Given the description of an element on the screen output the (x, y) to click on. 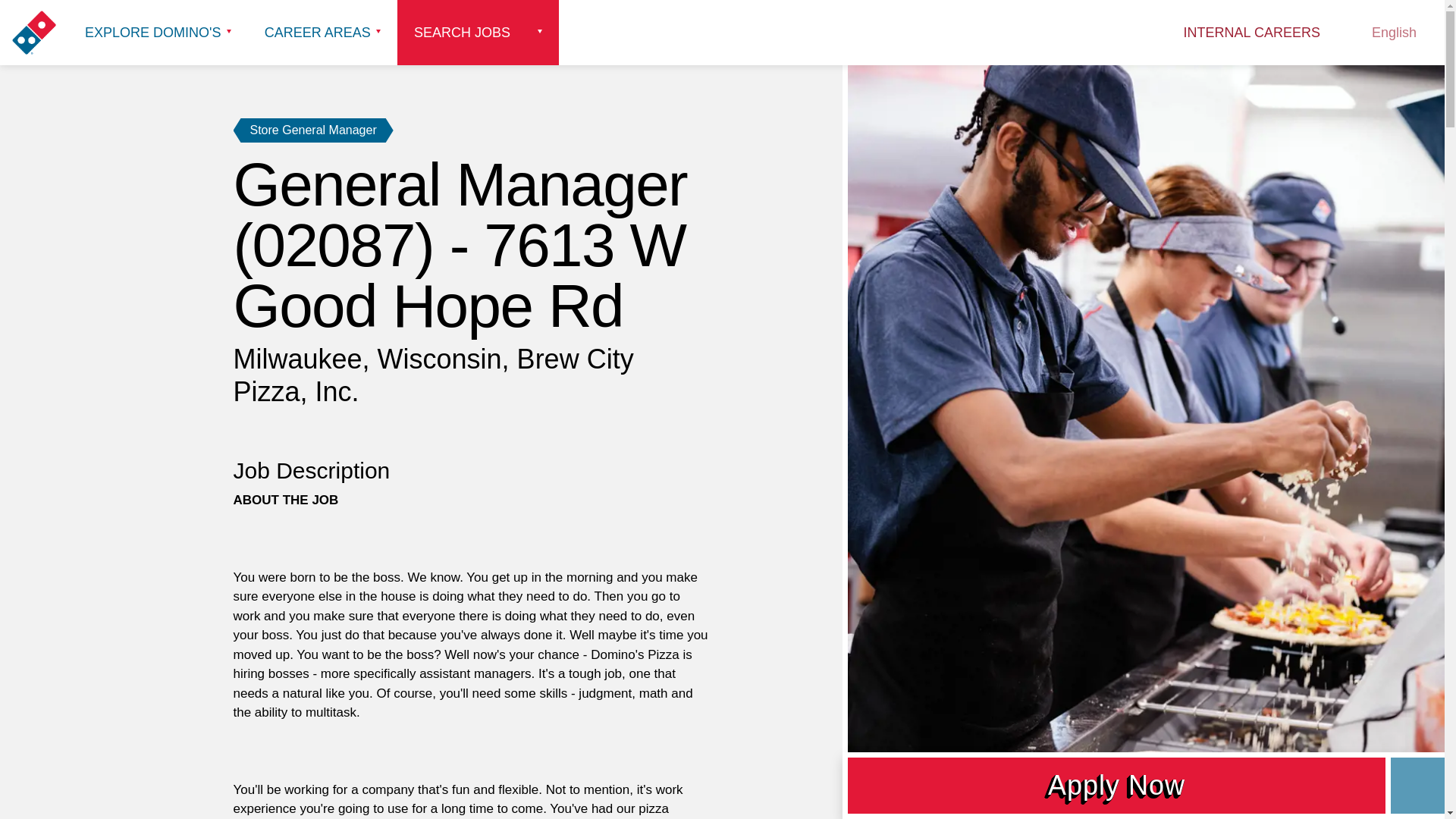
CAREER AREAS (322, 32)
Apply Now (1116, 785)
English (1384, 32)
SEARCH JOBS (478, 32)
INTERNAL CAREERS (1251, 32)
EXPLORE DOMINO'S (157, 32)
